Given the description of an element on the screen output the (x, y) to click on. 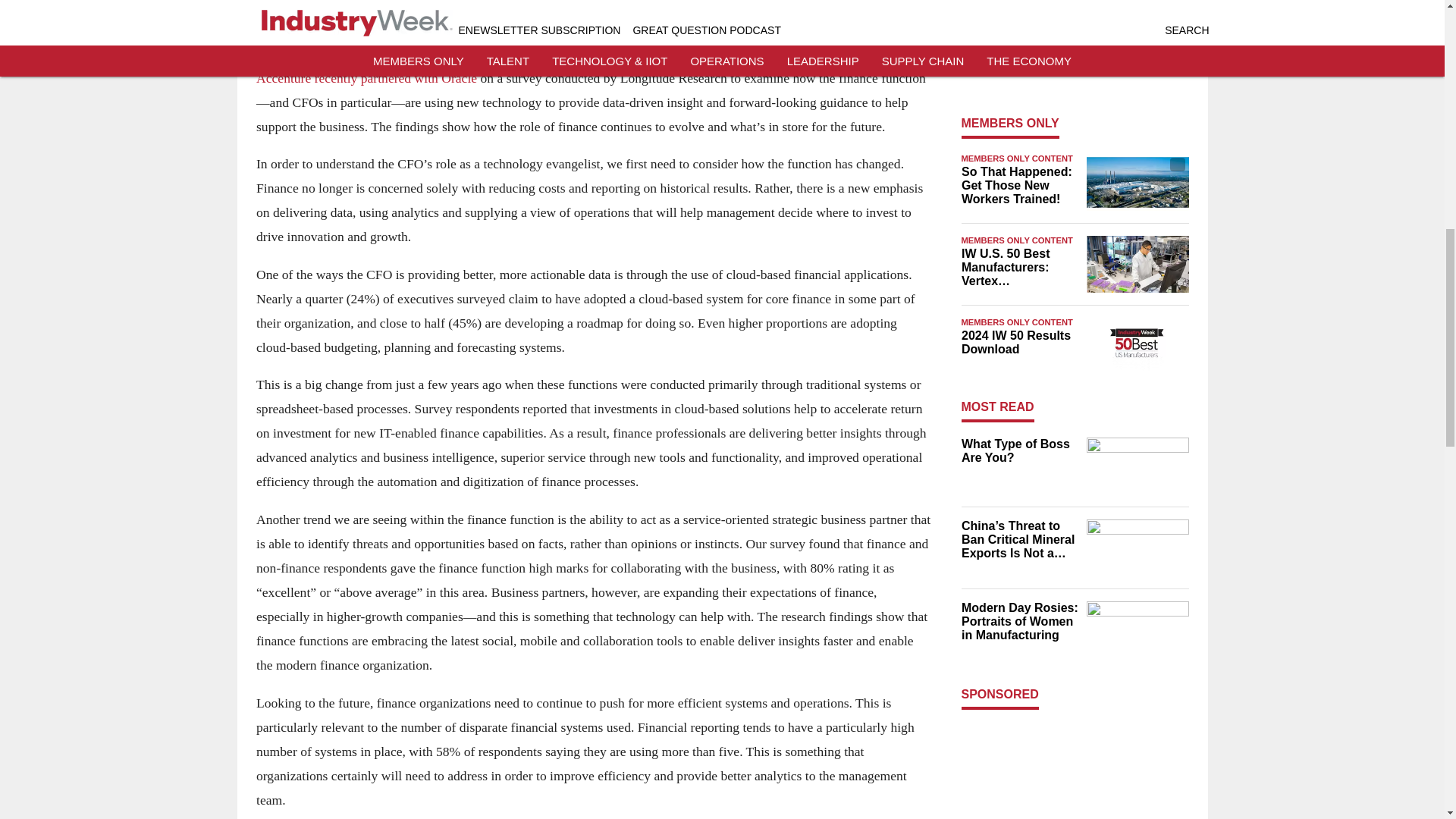
MEMBERS ONLY (1009, 123)
So That Happened: Get Those New Workers Trained! (1019, 185)
Accenture recently partnered with Oracle (366, 77)
